Given the description of an element on the screen output the (x, y) to click on. 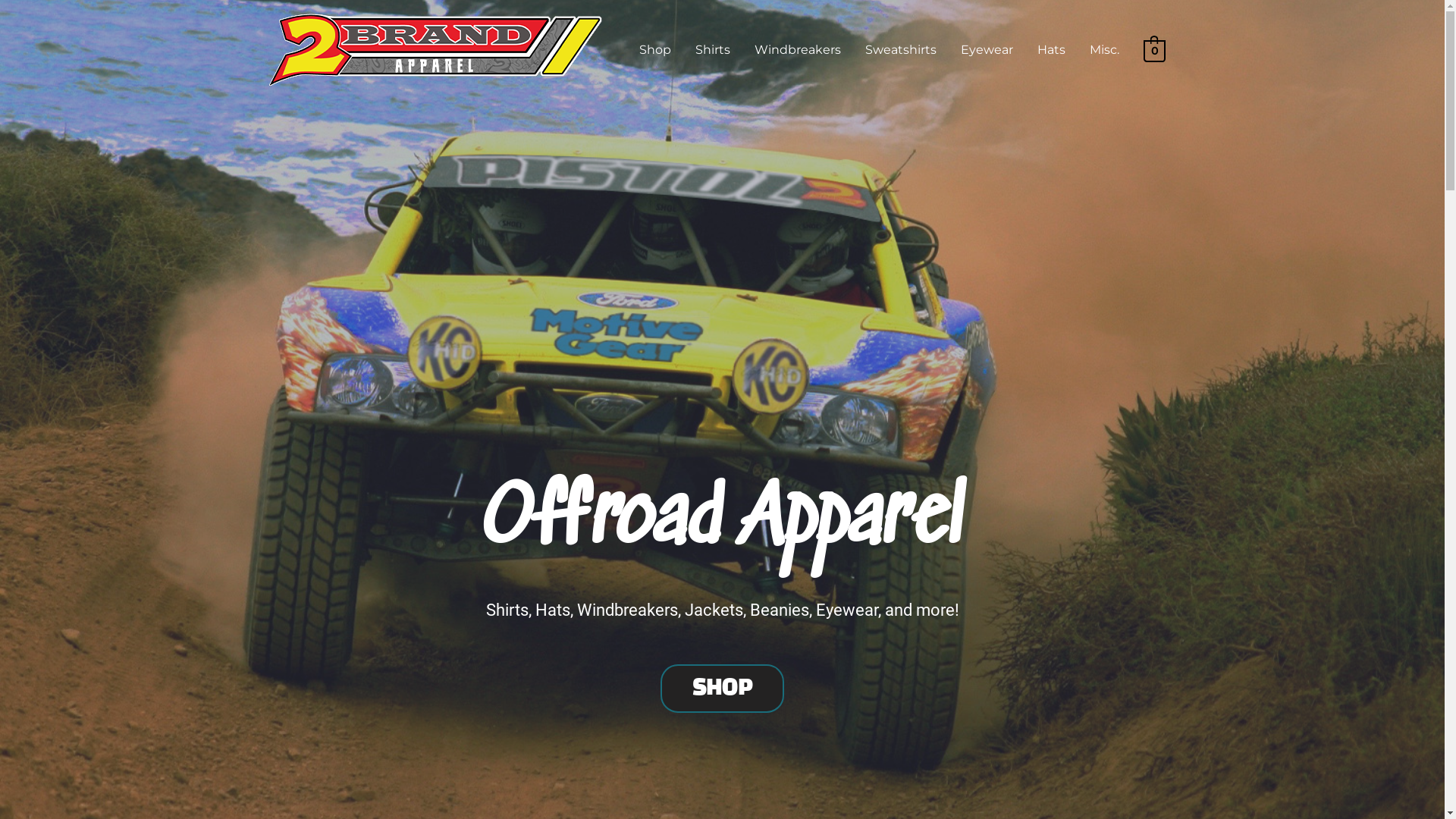
0 Element type: text (1154, 49)
Hats Element type: text (1051, 49)
Windbreakers Element type: text (797, 49)
Sweatshirts Element type: text (900, 49)
Misc. Element type: text (1104, 49)
Shirts Element type: text (712, 49)
Shop Element type: text (655, 49)
SHOP Element type: text (722, 688)
Eyewear Element type: text (986, 49)
